Given the description of an element on the screen output the (x, y) to click on. 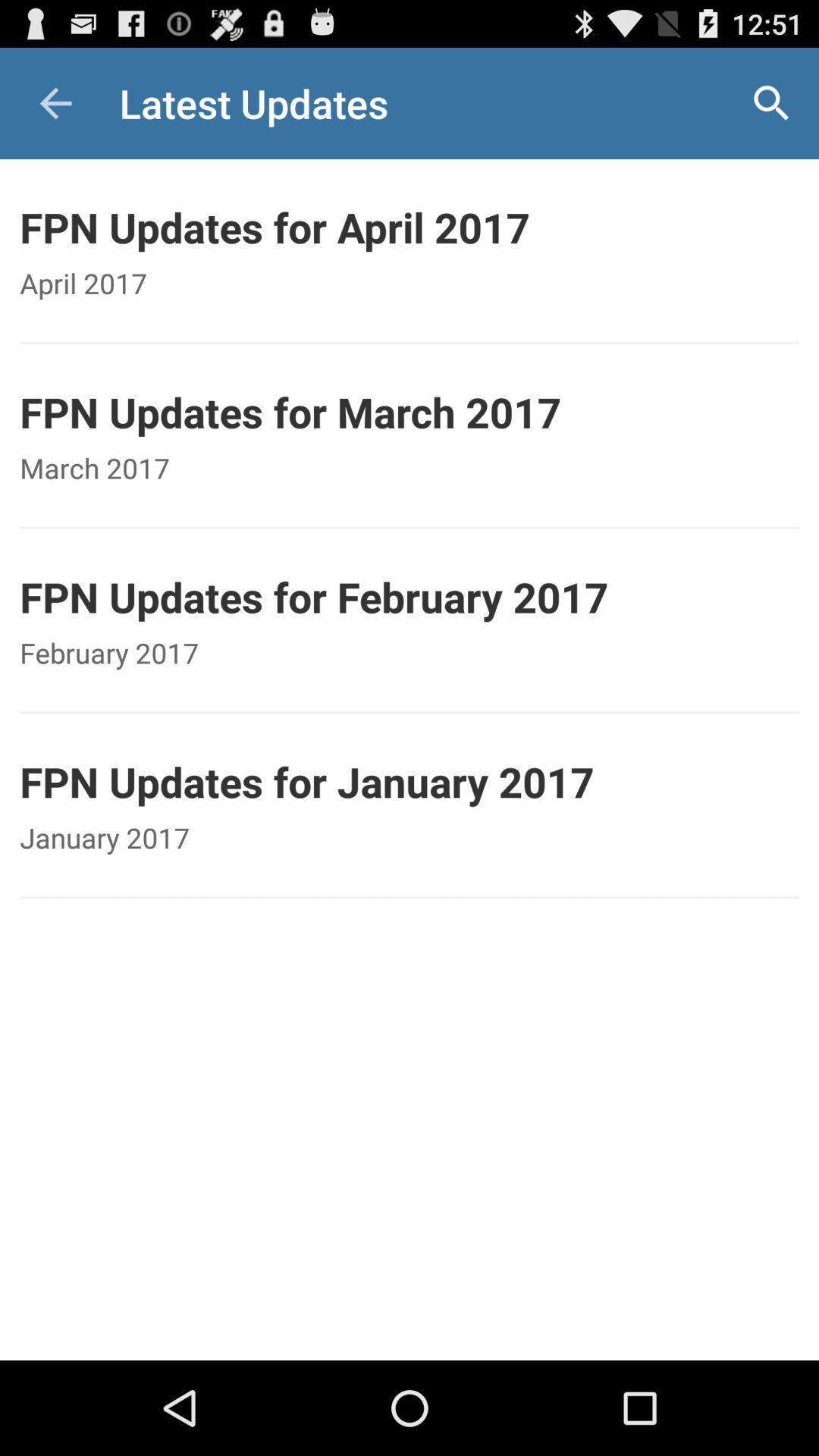
launch the app to the right of the latest updates (771, 103)
